Given the description of an element on the screen output the (x, y) to click on. 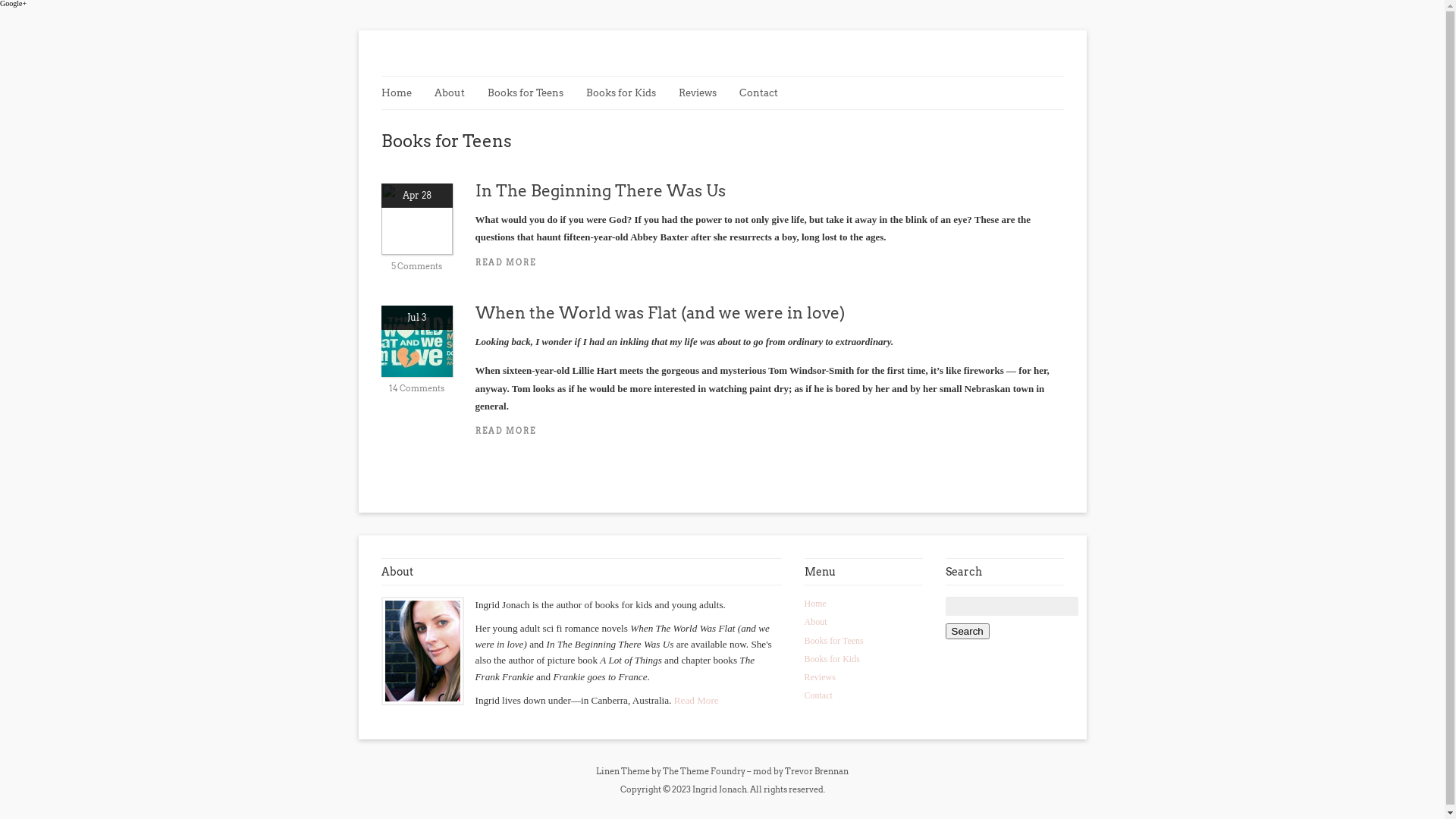
When the World was Flat (and we were in love) Element type: text (659, 312)
Books for Teens Element type: text (832, 640)
READ MORE Element type: text (768, 430)
Contact Element type: text (765, 92)
14 Comments Element type: text (416, 387)
Contact Element type: text (817, 695)
About Element type: text (814, 621)
Reviews Element type: text (818, 676)
Books for Kids Element type: text (831, 658)
Linen Theme Element type: text (622, 770)
Trevor Brennan Element type: text (816, 770)
Books for Teens Element type: text (531, 92)
5 Comments Element type: text (416, 265)
About Element type: text (456, 92)
The Theme Foundry Element type: text (703, 770)
Reviews Element type: text (704, 92)
Search Element type: text (966, 631)
READ MORE Element type: text (768, 262)
Read More Element type: text (696, 700)
Home Element type: text (814, 603)
In The Beginning There Was Us Element type: text (599, 190)
Home Element type: text (403, 92)
Books for Kids Element type: text (627, 92)
